Given the description of an element on the screen output the (x, y) to click on. 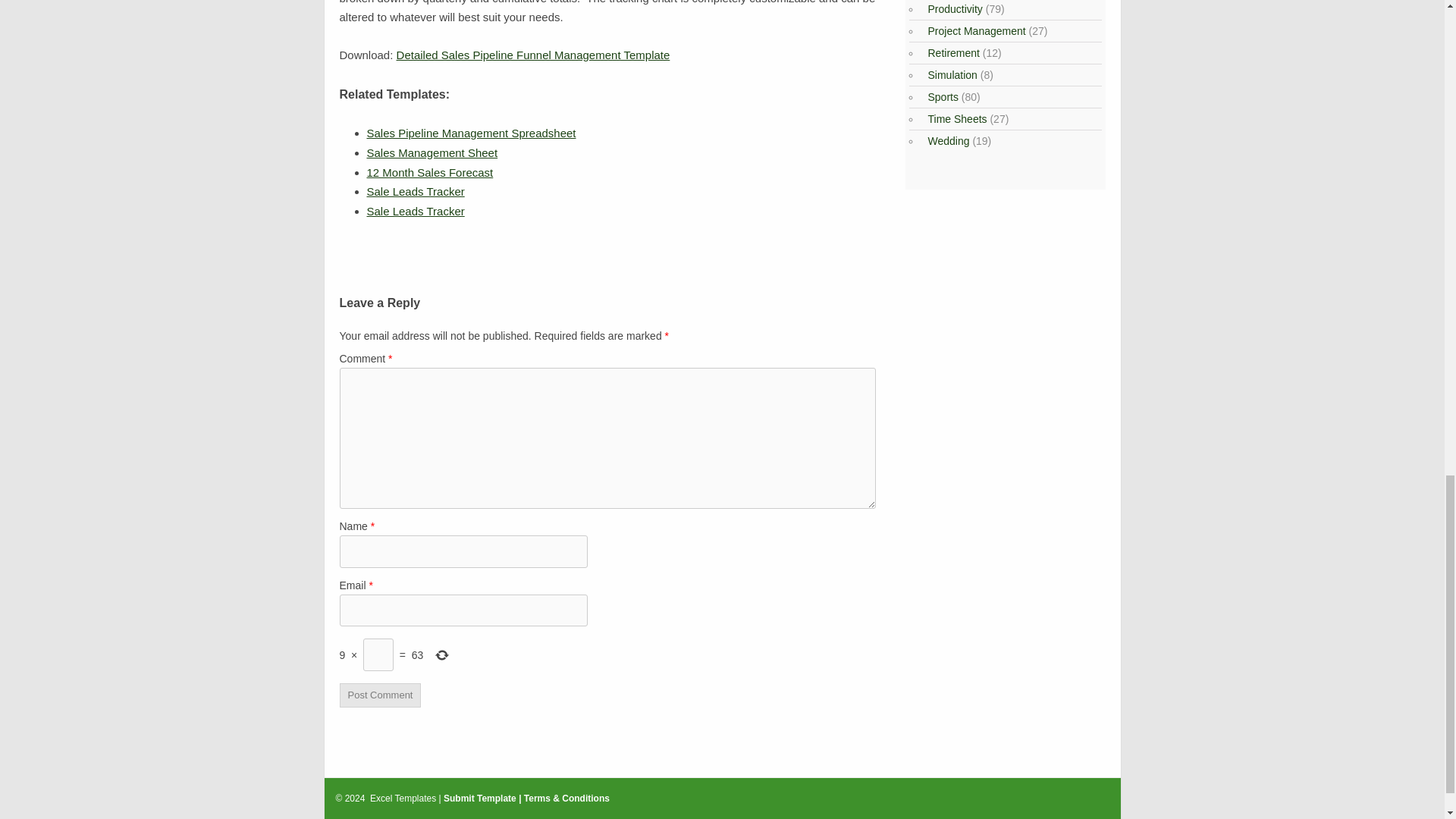
Post Comment (380, 695)
October 6, 2016 (431, 152)
Post Comment (380, 695)
July 19, 2016 (415, 210)
Detailed Sales Pipeline Funnel Management Template (532, 54)
Sale Leads Tracker (415, 210)
February 6, 2013 (471, 132)
Sales Management Sheet (431, 152)
12 Month Sales Forecast (429, 172)
July 27, 2016 (415, 191)
